Given the description of an element on the screen output the (x, y) to click on. 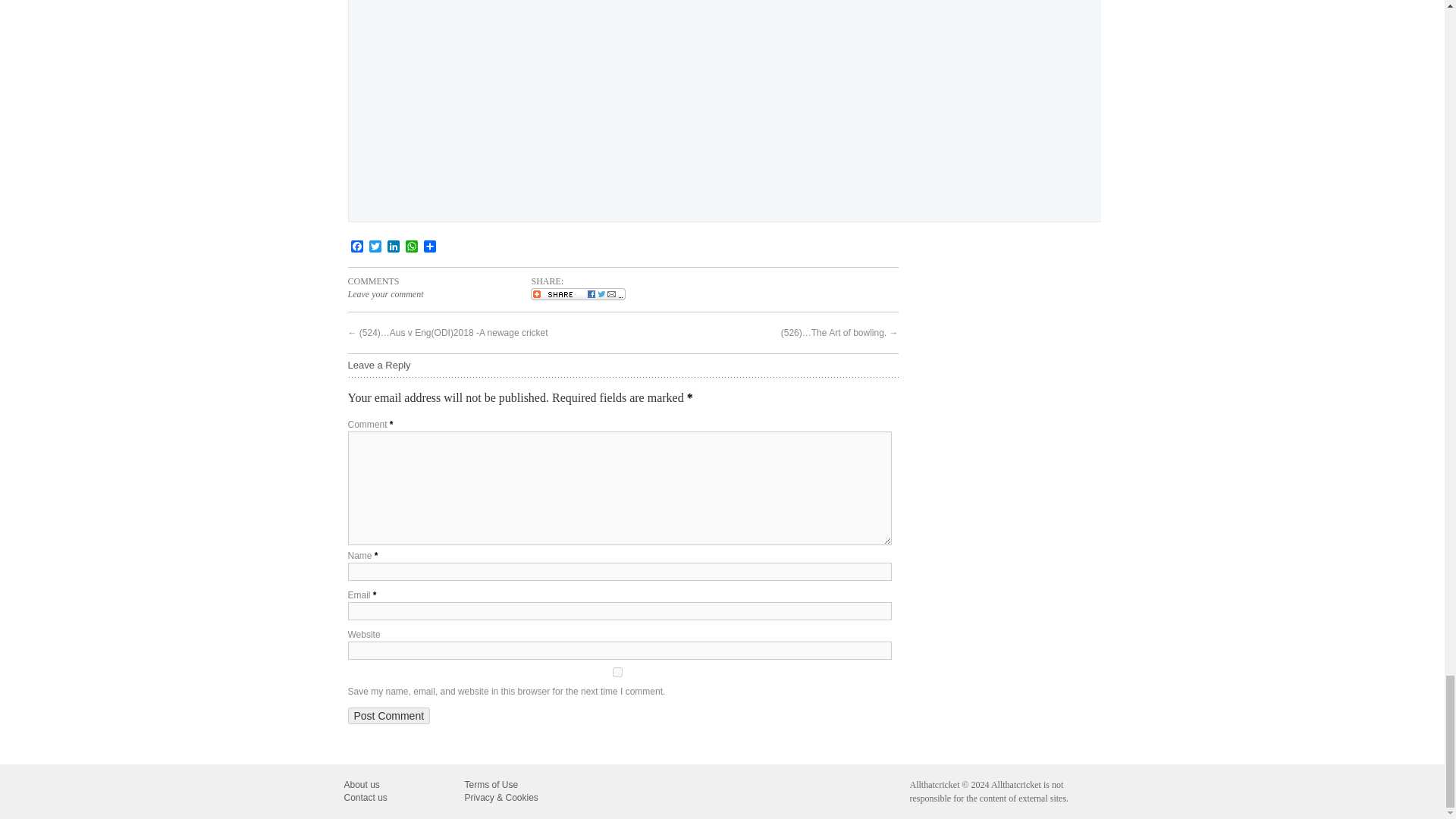
Facebook (356, 247)
WhatsApp (410, 247)
LinkedIn (392, 247)
yes (616, 672)
Post Comment (388, 715)
Twitter (374, 247)
